Given the description of an element on the screen output the (x, y) to click on. 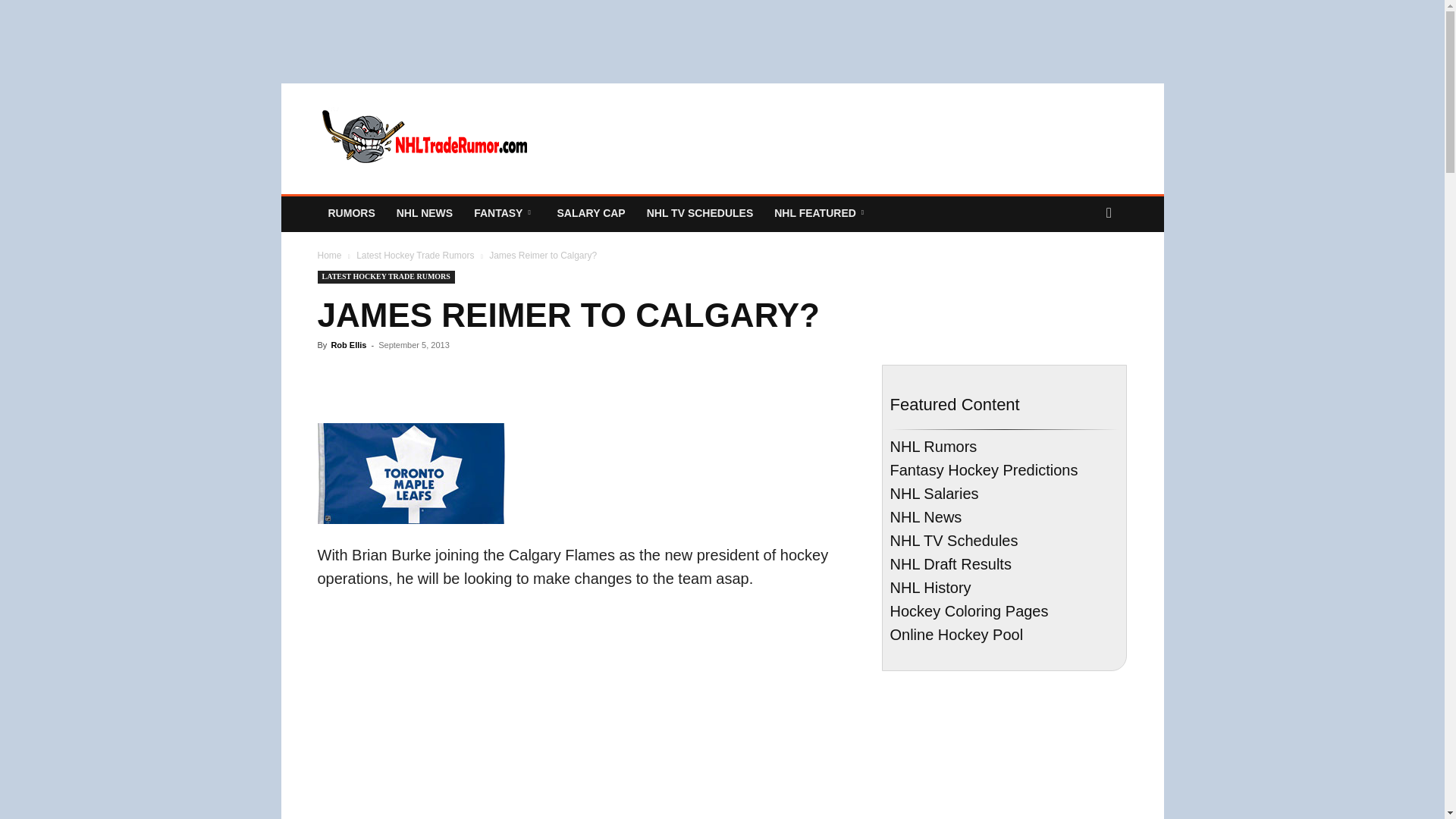
NHL Salary Cap (590, 212)
FANTASY (504, 212)
RUMORS (351, 212)
NHL NEWS (424, 212)
Latest NHL news and rumors (351, 212)
Fantasy Hockey Predictions (504, 212)
